Given the description of an element on the screen output the (x, y) to click on. 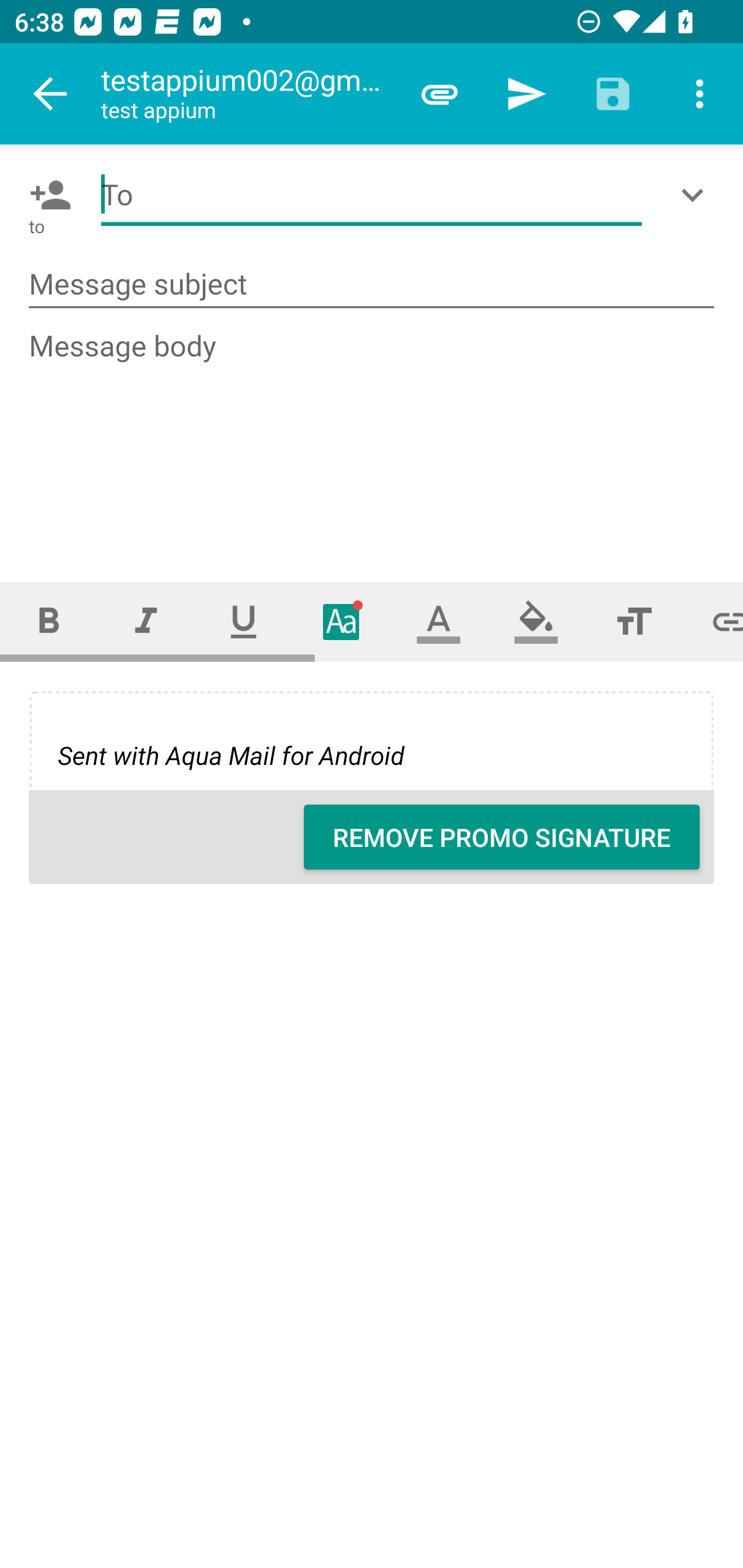
Navigate up (50, 93)
testappium002@gmail.com test appium (248, 93)
Attach (439, 93)
Send (525, 93)
Save (612, 93)
More options (699, 93)
Pick contact: To (46, 195)
Show/Add CC/BCC (696, 195)
To (371, 195)
Message subject (371, 284)
Bold (48, 621)
Italic (145, 621)
Underline (243, 621)
Typeface (font) (341, 621)
Text color (438, 621)
Fill color (536, 621)
Font size (633, 621)
REMOVE PROMO SIGNATURE (501, 837)
